Given the description of an element on the screen output the (x, y) to click on. 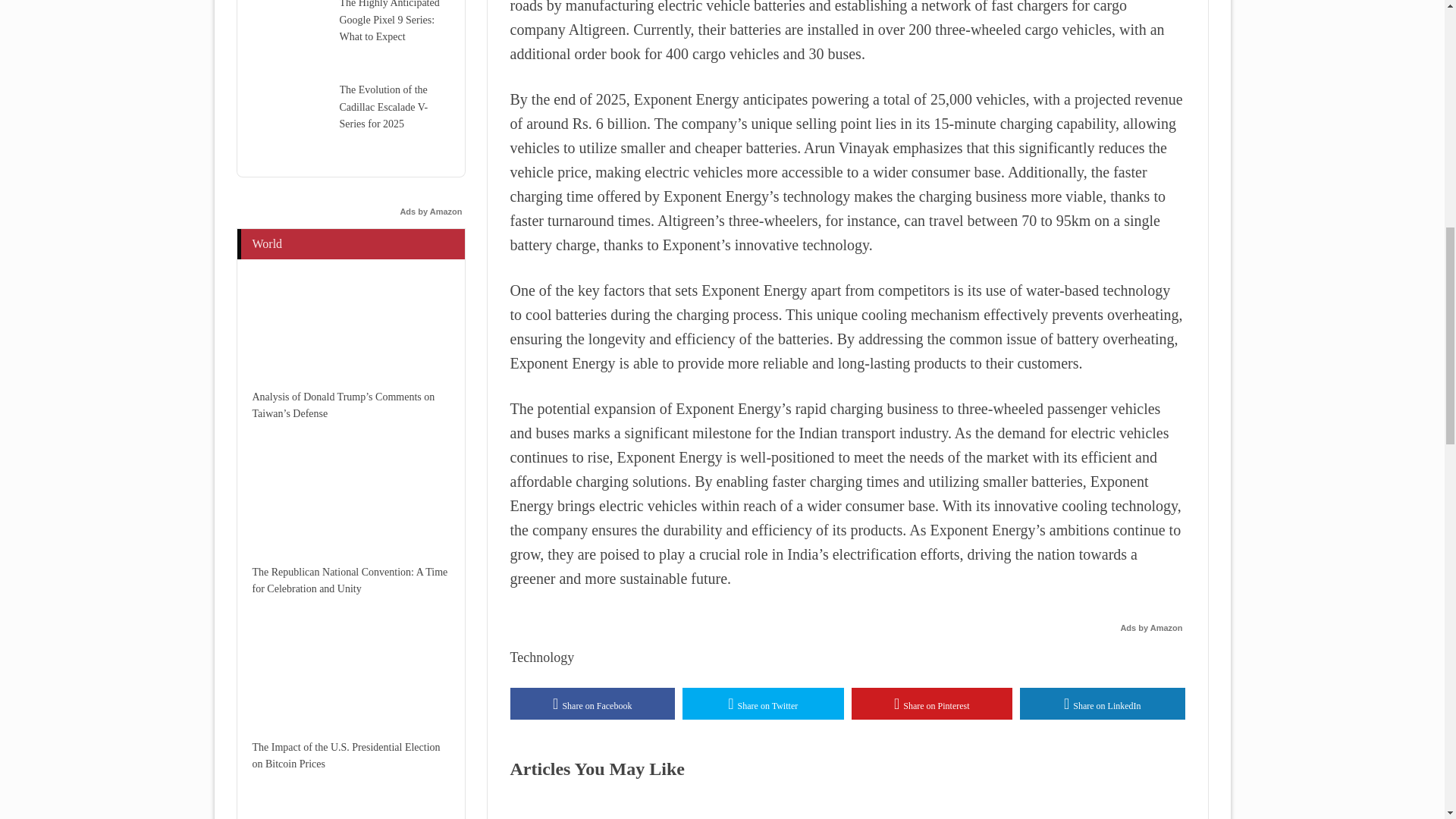
Technology (541, 657)
